Given the description of an element on the screen output the (x, y) to click on. 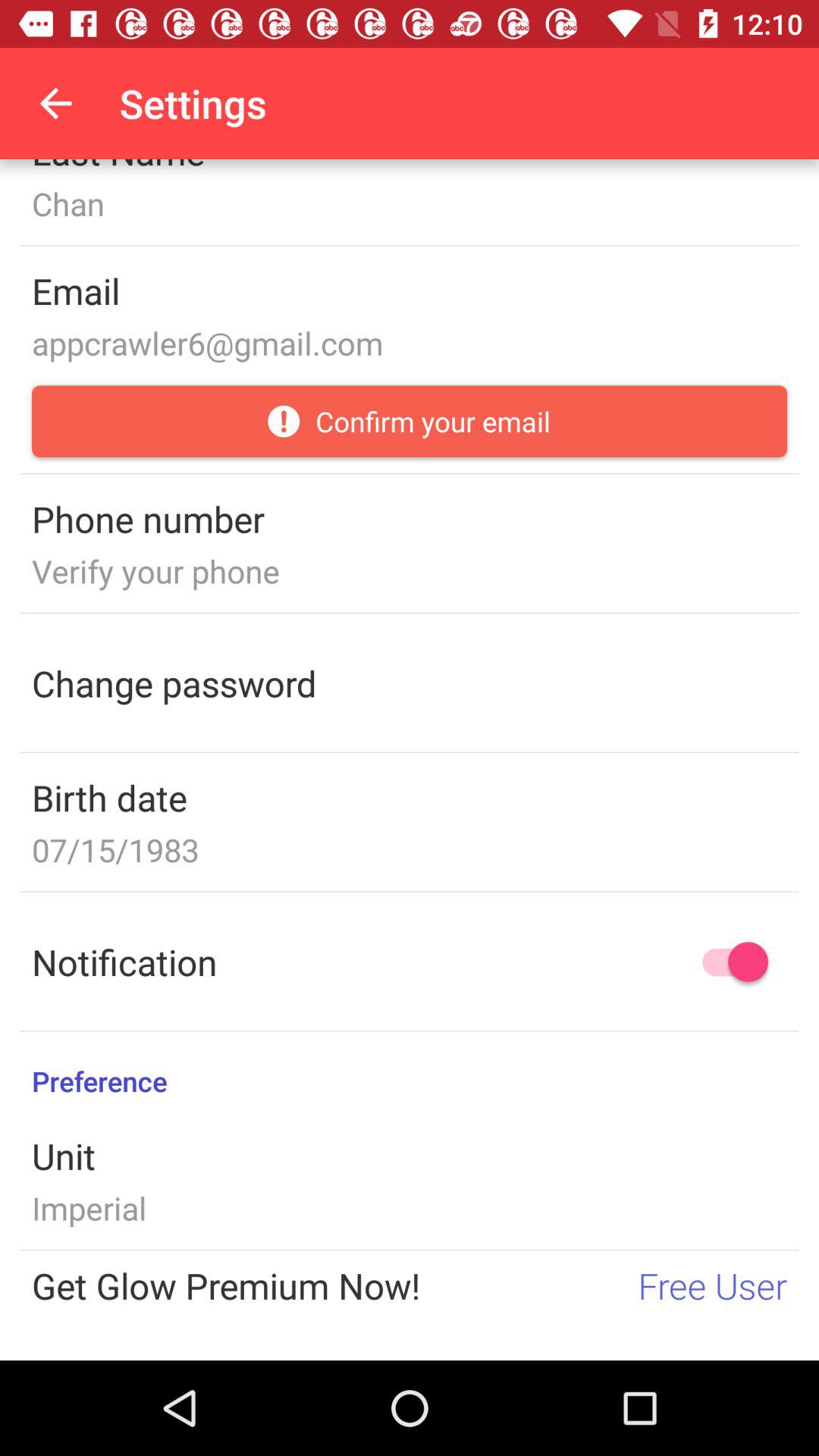
choose the free user at the bottom right corner (712, 1285)
